Given the description of an element on the screen output the (x, y) to click on. 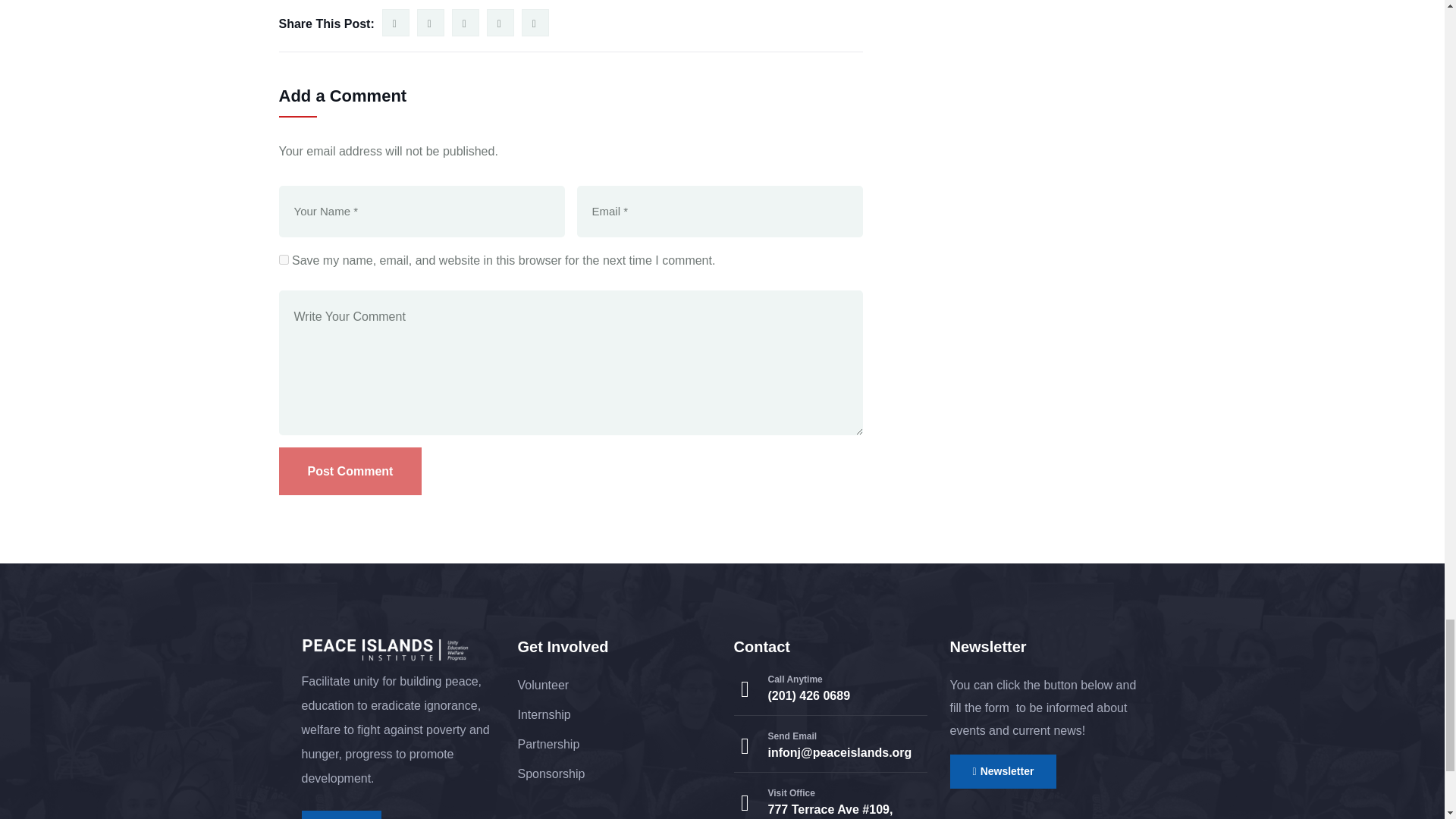
yes (283, 259)
Home (384, 650)
Post Comment (350, 471)
